Given the description of an element on the screen output the (x, y) to click on. 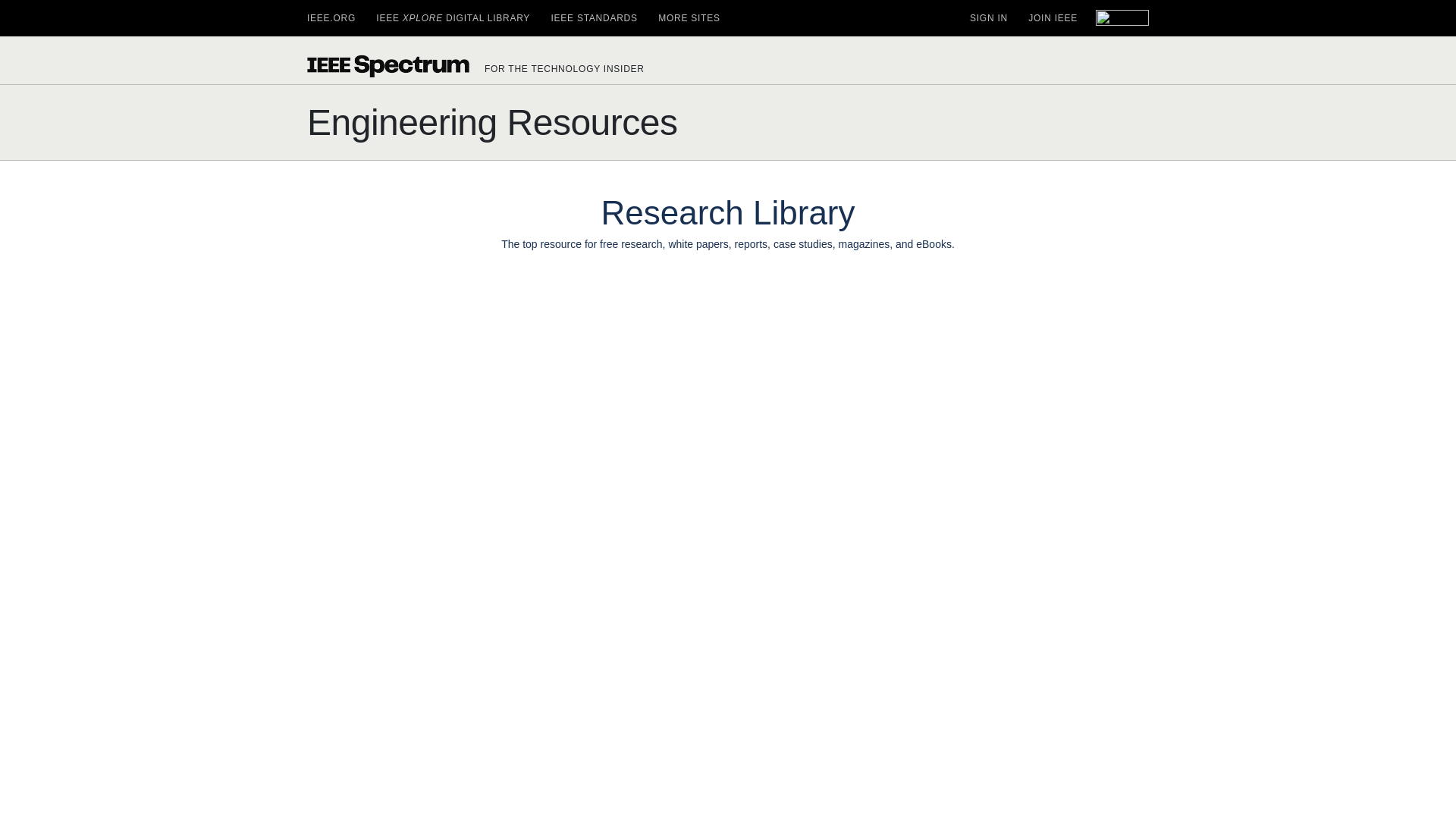
IEEE STANDARDS (593, 18)
JOIN IEEE (1052, 18)
MORE SITES (689, 18)
SIGN IN (988, 18)
IEEE.ORG (331, 18)
IEEE XPLORE DIGITAL LIBRARY (452, 18)
